Given the description of an element on the screen output the (x, y) to click on. 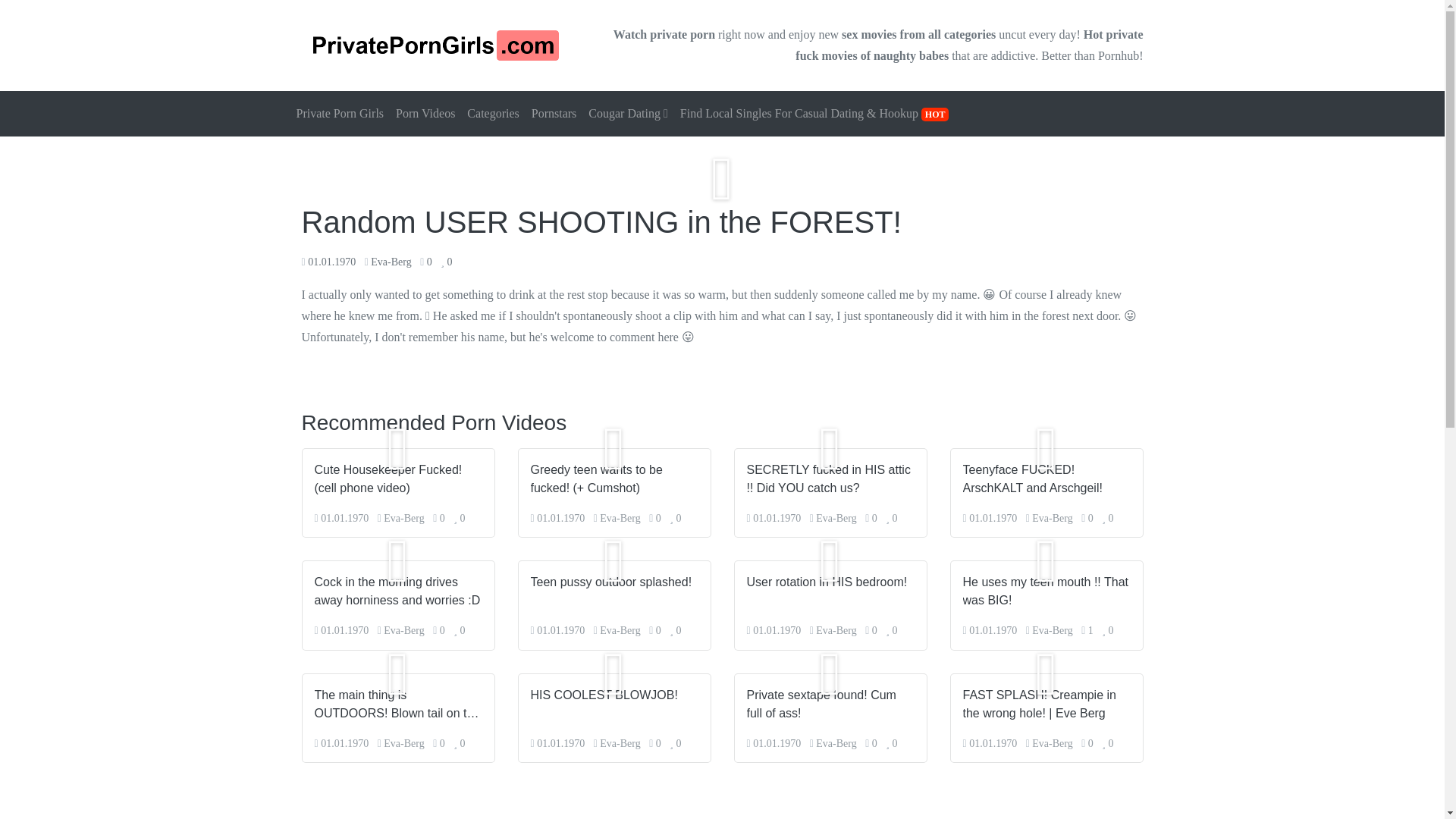
Eva-Berg (403, 630)
Eva-Berg (835, 518)
Porn Videos (425, 113)
Cock in the morning drives away horniness and worries :D (397, 591)
Eva-Berg (835, 630)
Categories (492, 113)
Teen pussy outdoor splashed! (614, 582)
Eva-Berg (403, 518)
Pornstars (554, 113)
HIS COOLEST BLOWJOB! (614, 694)
Eva-Berg (619, 630)
Eva-Berg (403, 742)
Eva-Berg (1051, 518)
Teenyface FUCKED! ArschKALT and Arschgeil! (1046, 479)
Eva-Berg (619, 742)
